Given the description of an element on the screen output the (x, y) to click on. 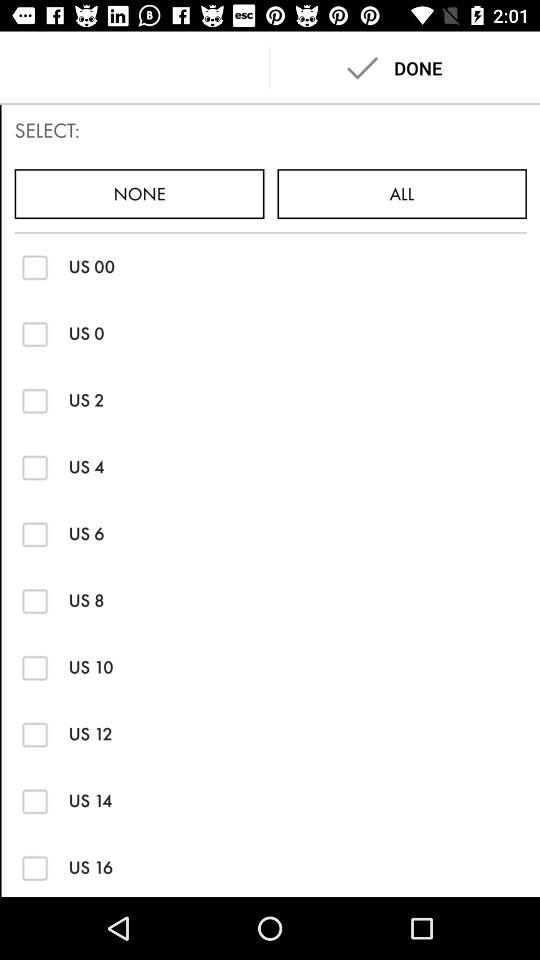
select size 0 option (34, 333)
